Given the description of an element on the screen output the (x, y) to click on. 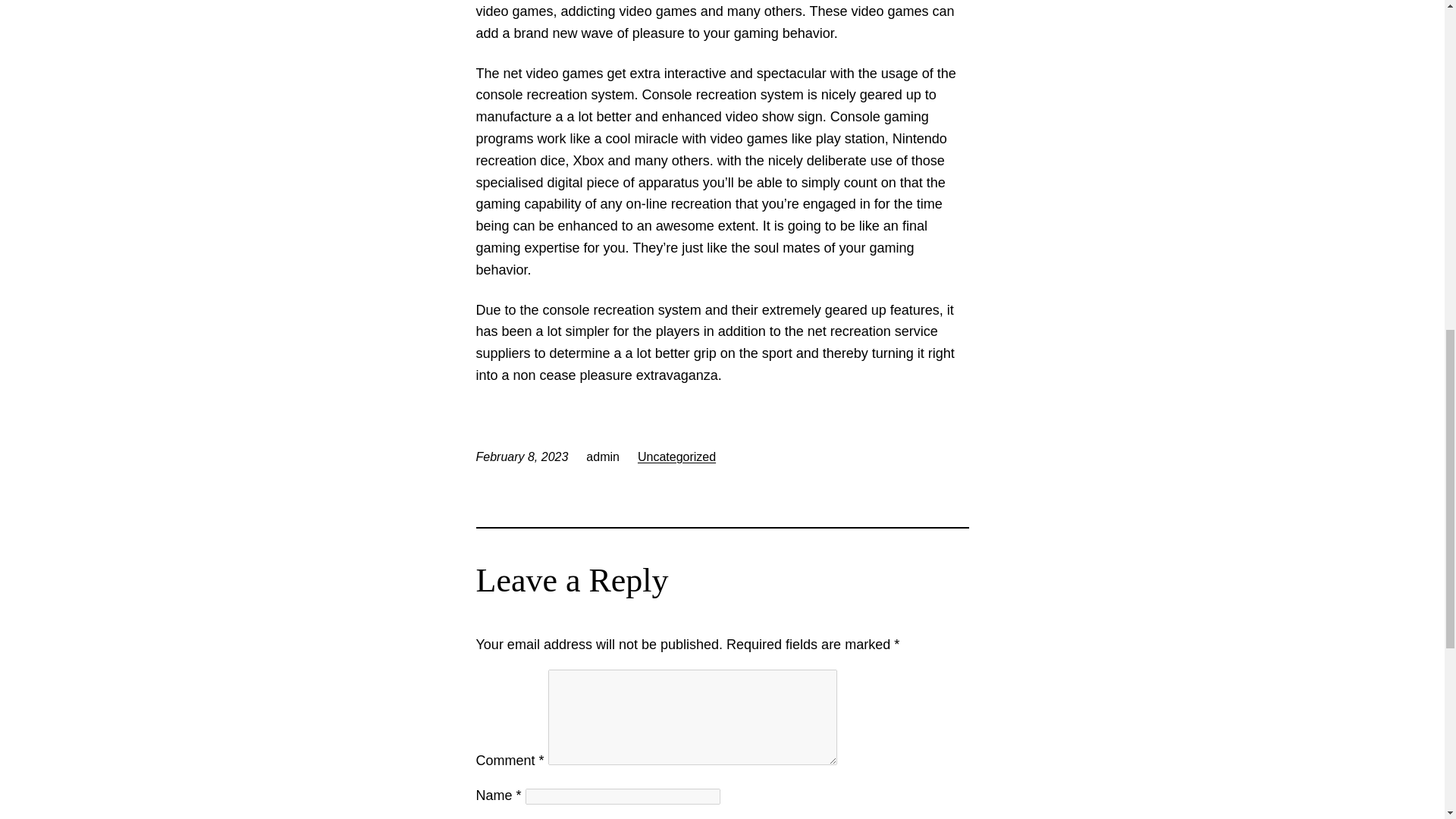
Uncategorized (676, 456)
